Given the description of an element on the screen output the (x, y) to click on. 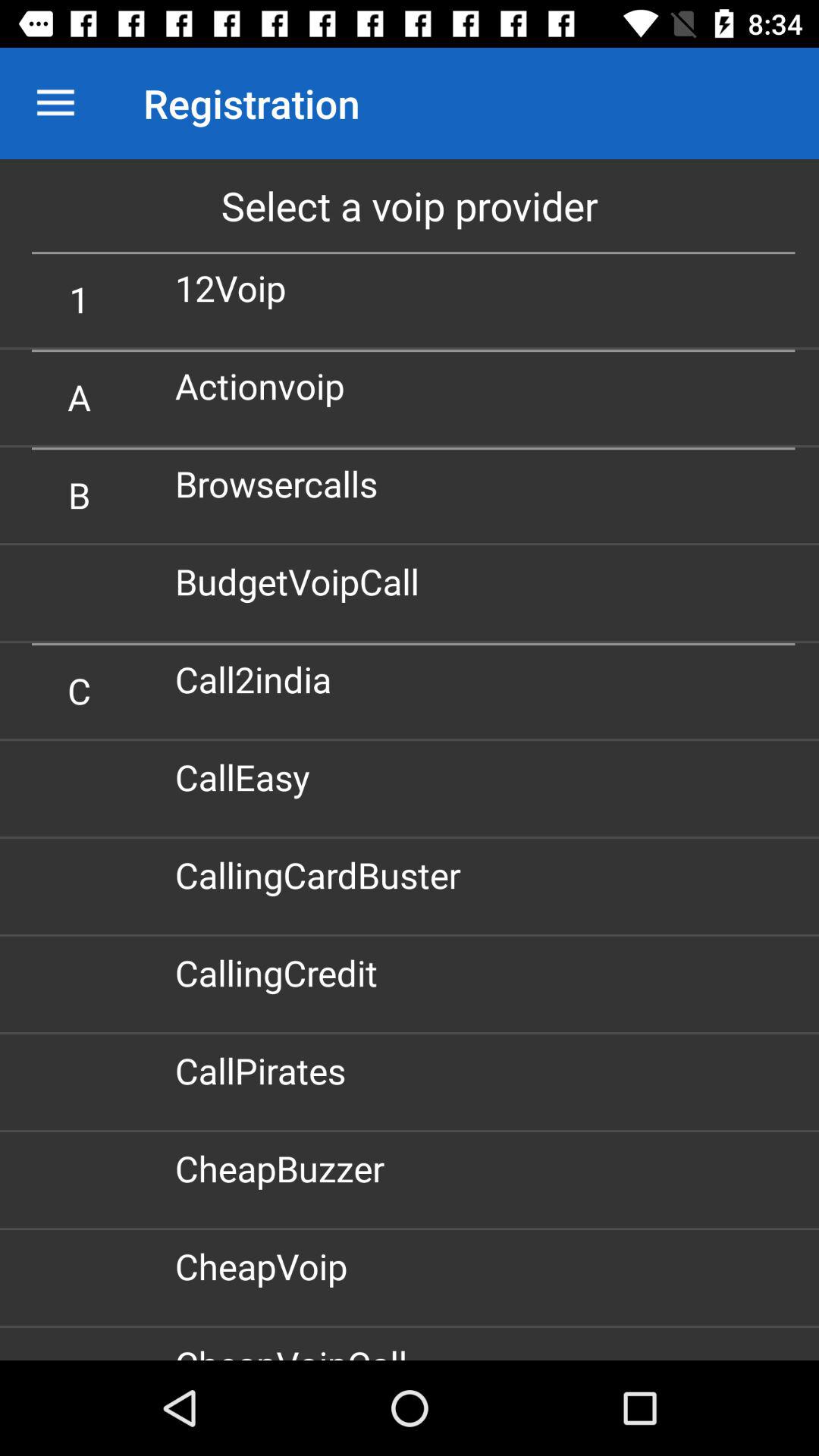
jump until call2india icon (259, 679)
